Given the description of an element on the screen output the (x, y) to click on. 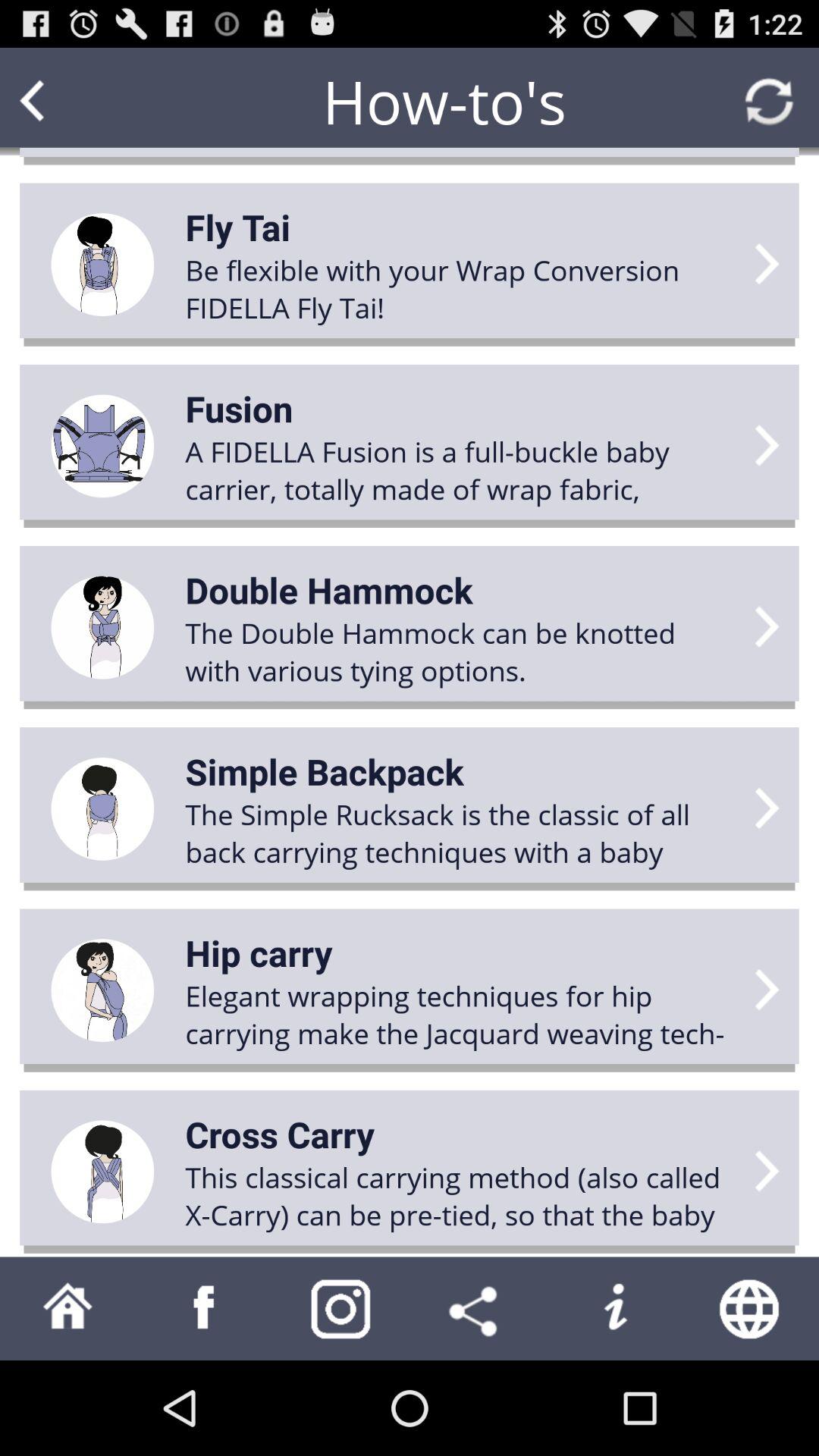
jump until the cross carry icon (279, 1134)
